Given the description of an element on the screen output the (x, y) to click on. 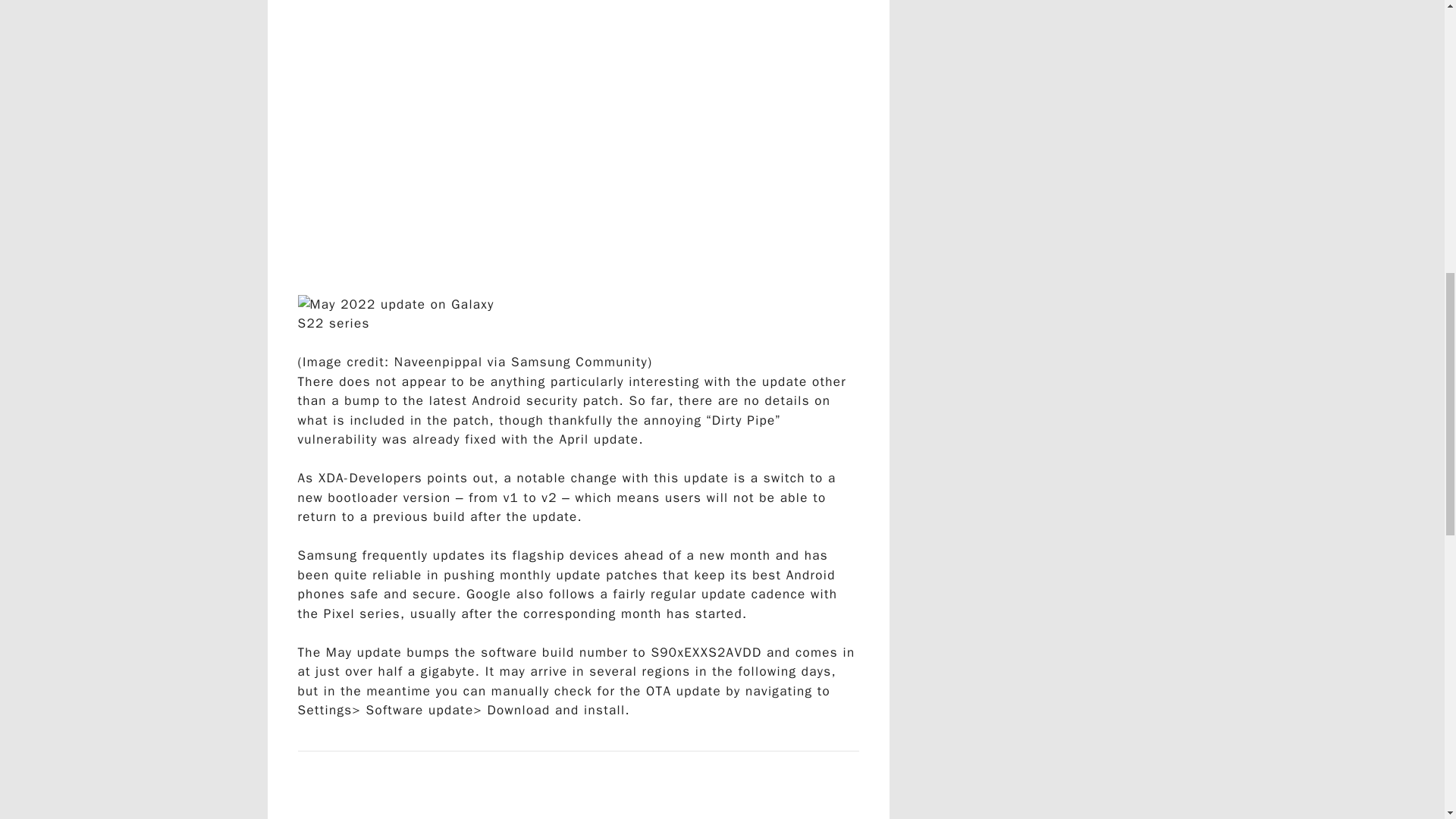
Scroll back to top (1406, 720)
